Given the description of an element on the screen output the (x, y) to click on. 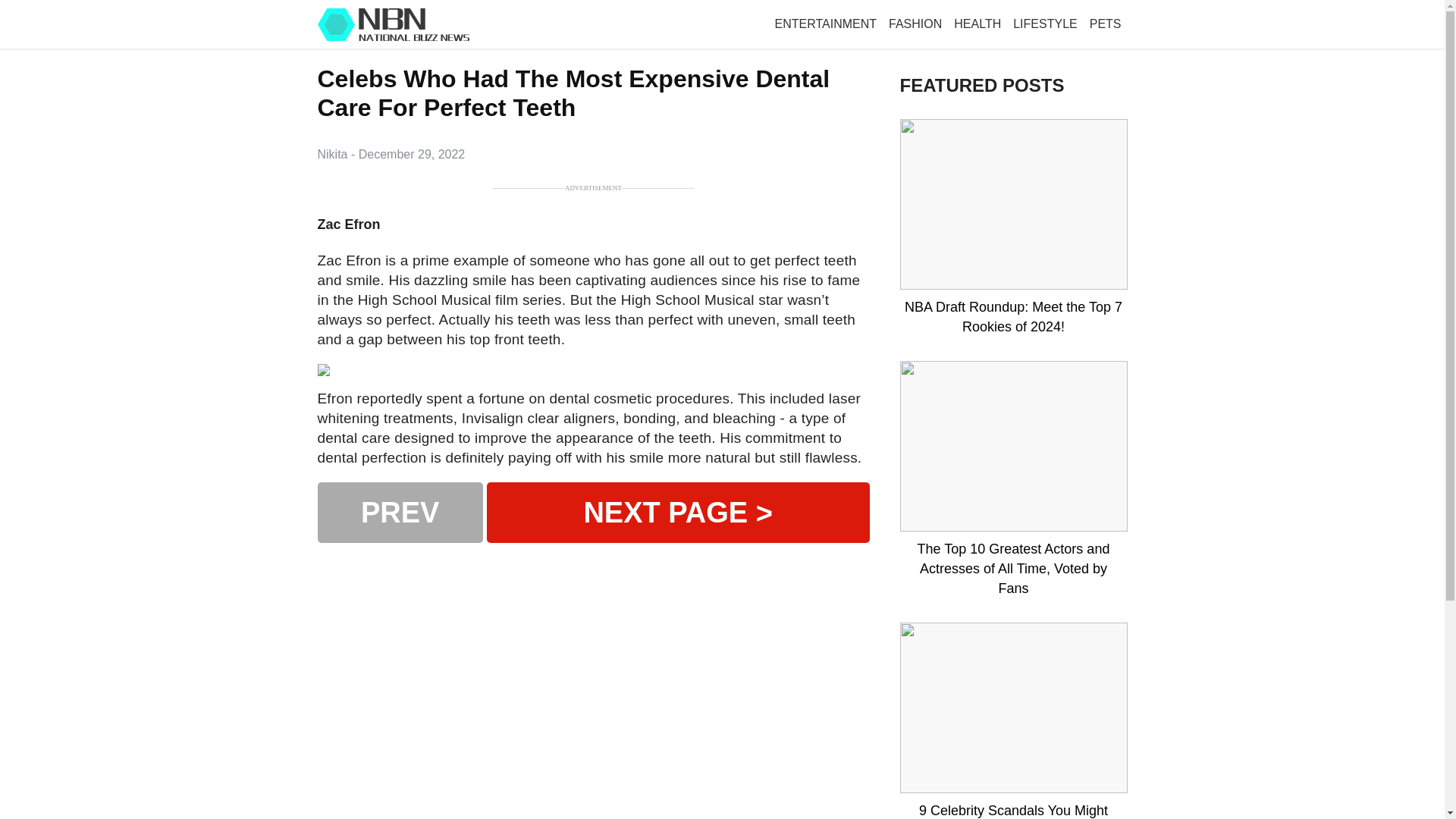
HEALTH (977, 24)
FASHION (914, 24)
LIFESTYLE (1045, 24)
PETS (1104, 24)
ENTERTAINMENT (825, 24)
NBA Draft Roundup: Meet the Top 7 Rookies of 2024! (1012, 316)
PREV (399, 512)
